Given the description of an element on the screen output the (x, y) to click on. 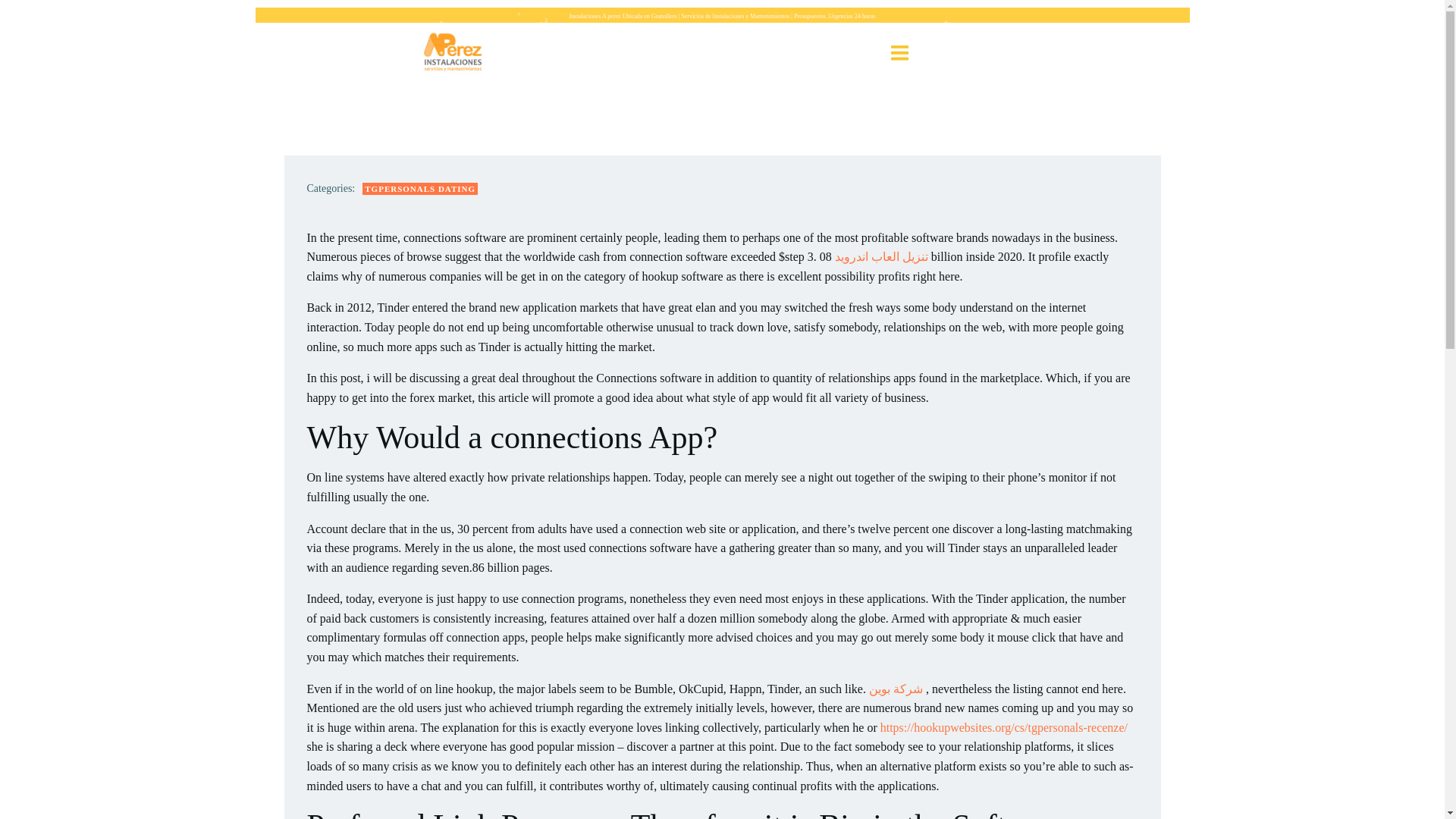
TGPERSONALS DATING (419, 188)
Menu (899, 53)
